Given the description of an element on the screen output the (x, y) to click on. 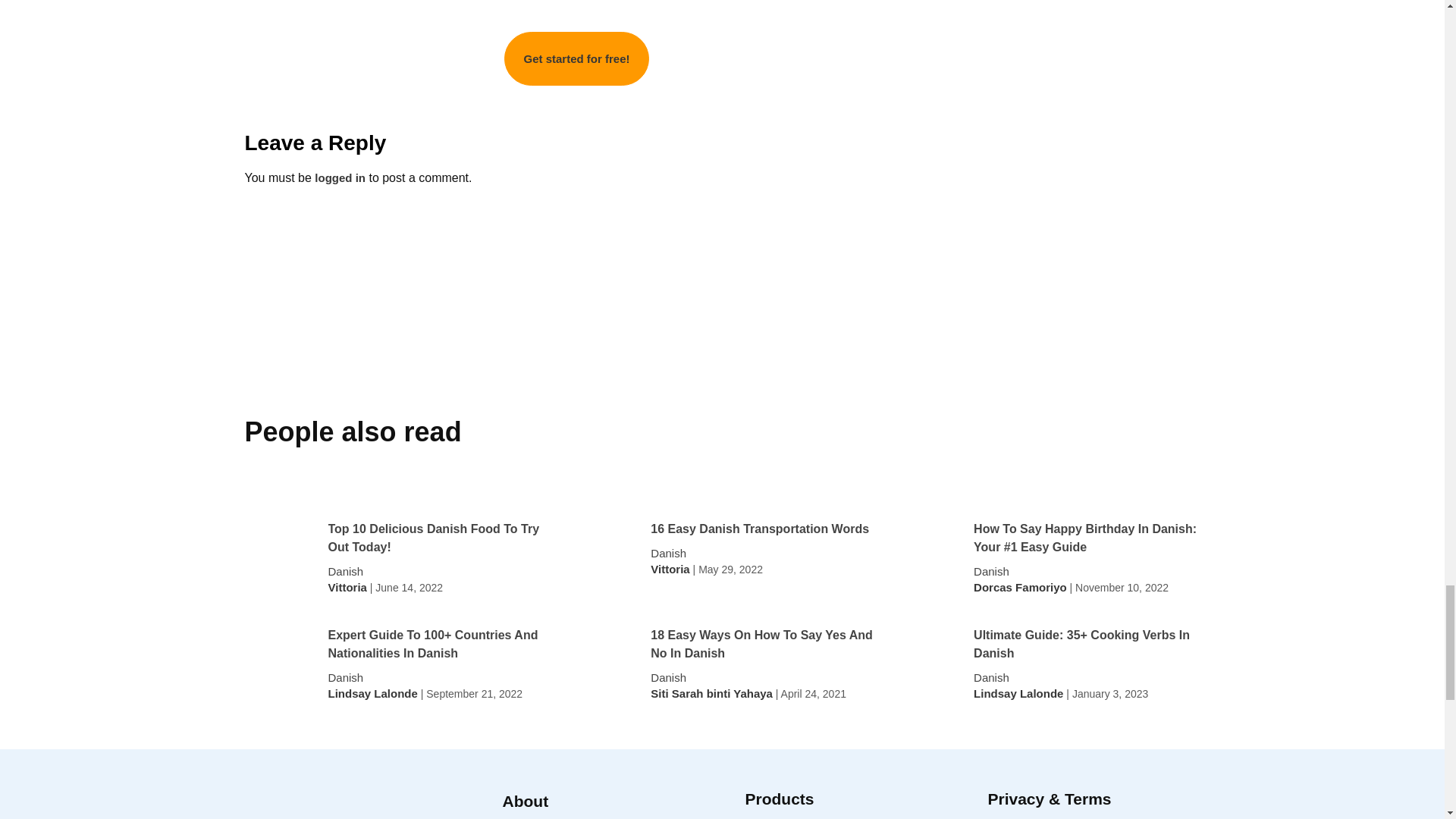
Get started for free! (575, 58)
Top 10 Delicious Danish Food To Try Out Today! (439, 538)
18 Easy Ways On How To Say Yes And No In Danish (762, 644)
logged in (339, 177)
16 Easy Danish Transportation Words (759, 529)
